Given the description of an element on the screen output the (x, y) to click on. 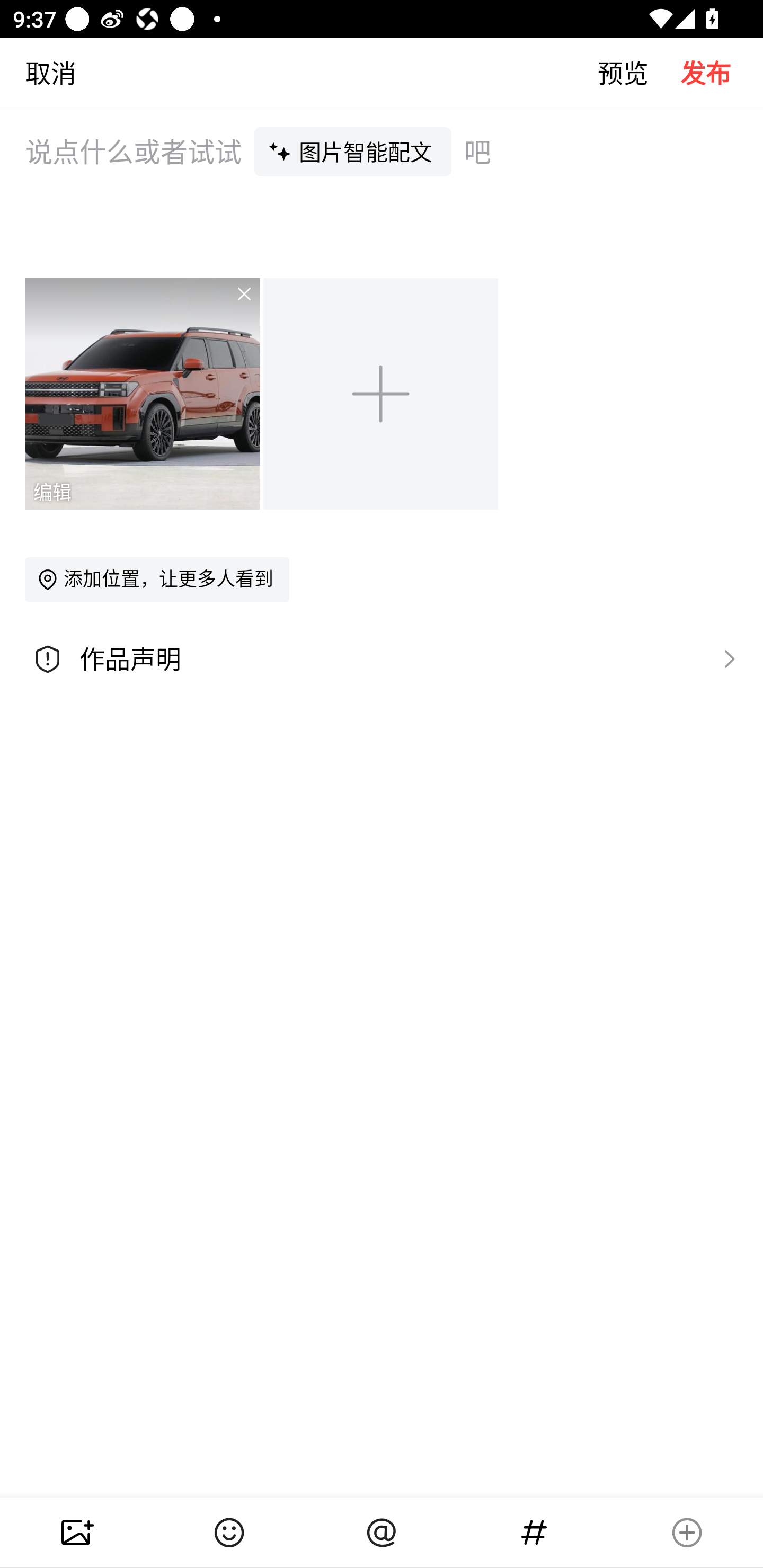
取消 (38, 71)
预览 (638, 71)
发布 (721, 71)
图片智能配文 (352, 151)
图片1，可编辑 移除 编辑 (144, 393)
添加图片 (382, 393)
移除 (231, 306)
添加位置，让更多人看到 (157, 579)
作品声明 高级设置 作品声明 高级设置 (381, 658)
高级设置 (724, 658)
相册 (76, 1532)
表情 (228, 1532)
at (381, 1532)
话题 (533, 1532)
更多 (686, 1532)
